Given the description of an element on the screen output the (x, y) to click on. 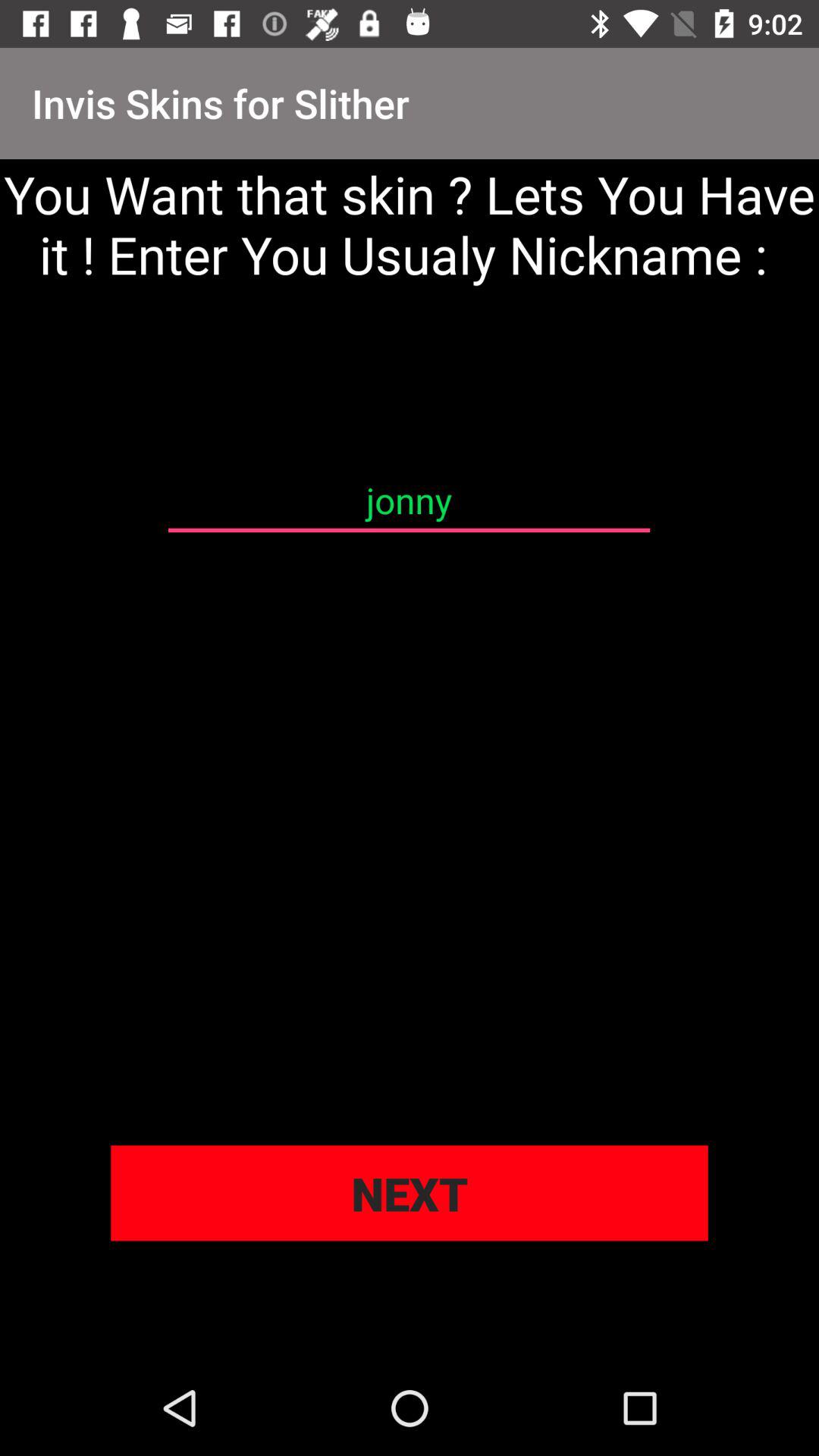
jump to the next icon (409, 1193)
